Given the description of an element on the screen output the (x, y) to click on. 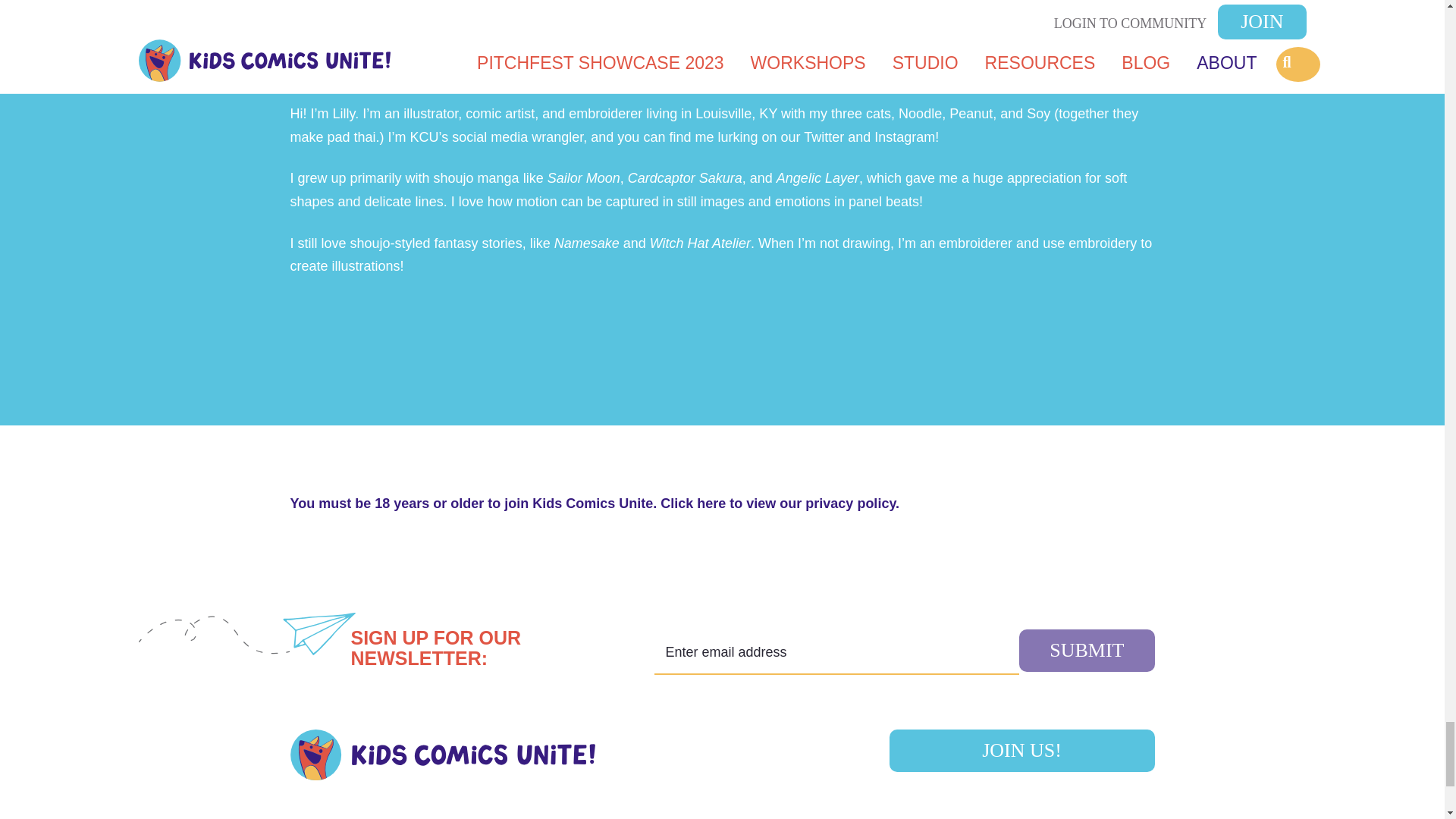
Submit (1086, 650)
